Given the description of an element on the screen output the (x, y) to click on. 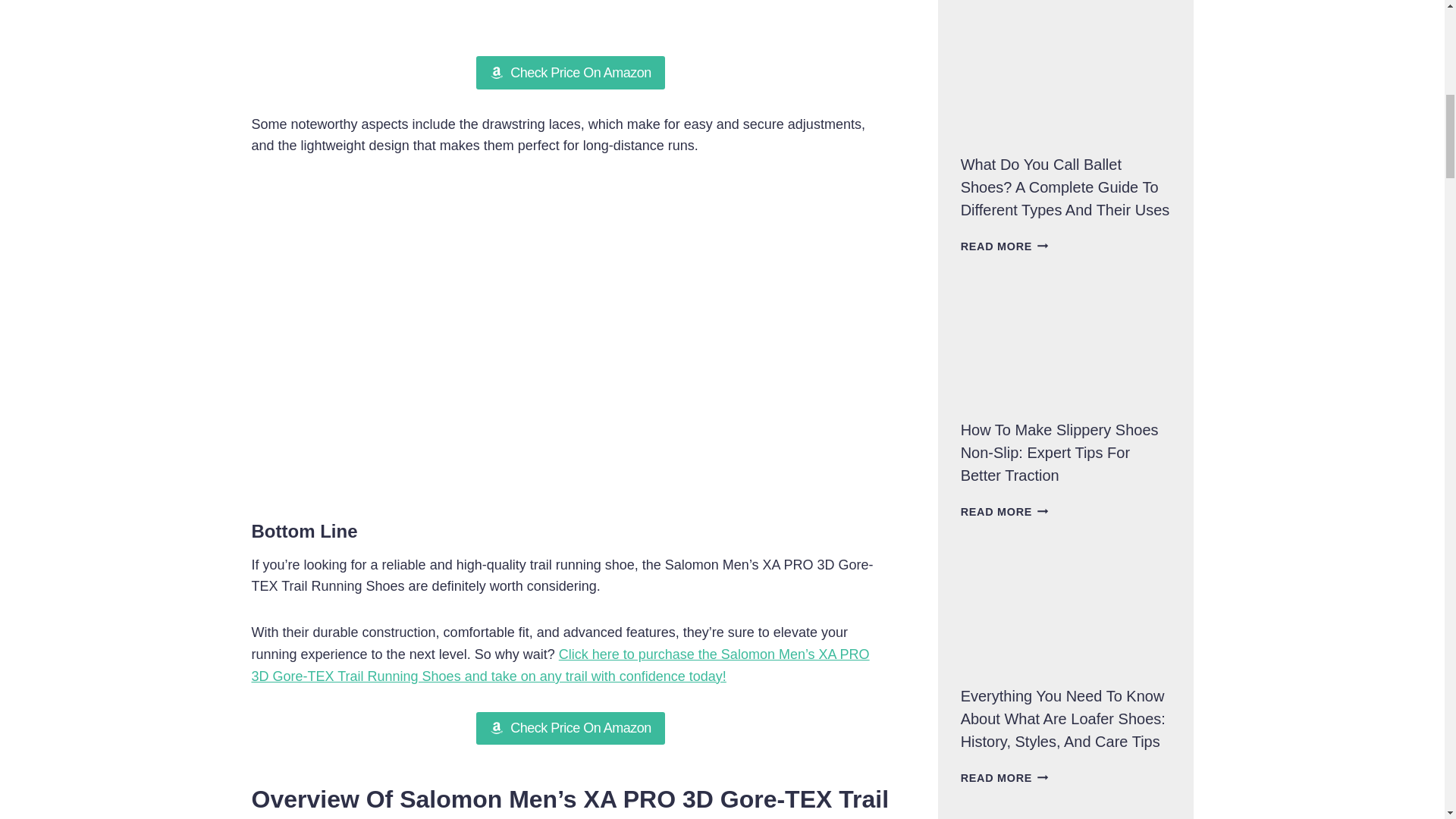
Check Price On Amazon (570, 72)
Check Price On Amazon (570, 727)
